Given the description of an element on the screen output the (x, y) to click on. 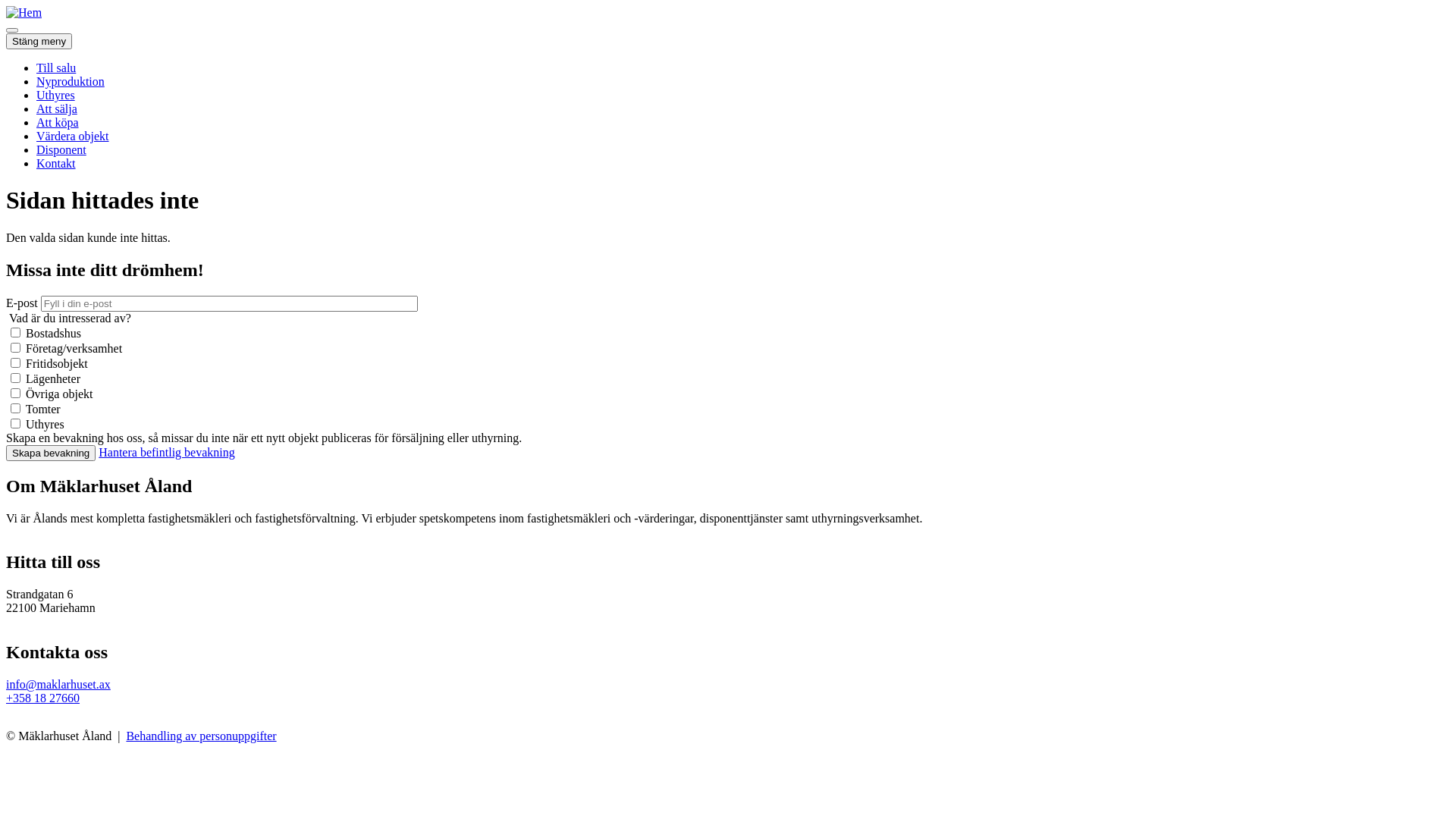
Kontakt Element type: text (55, 162)
Hem Element type: hover (23, 12)
+358 18 27660 Element type: text (42, 697)
Till salu Element type: text (55, 67)
Disponent Element type: text (61, 149)
info@maklarhuset.ax Element type: text (58, 683)
Hantera befintlig bevakning Element type: text (166, 451)
Uthyres Element type: text (55, 94)
Skapa bevakning Element type: text (50, 453)
Behandling av personuppgifter Element type: text (200, 735)
Nyproduktion Element type: text (70, 81)
